Given the description of an element on the screen output the (x, y) to click on. 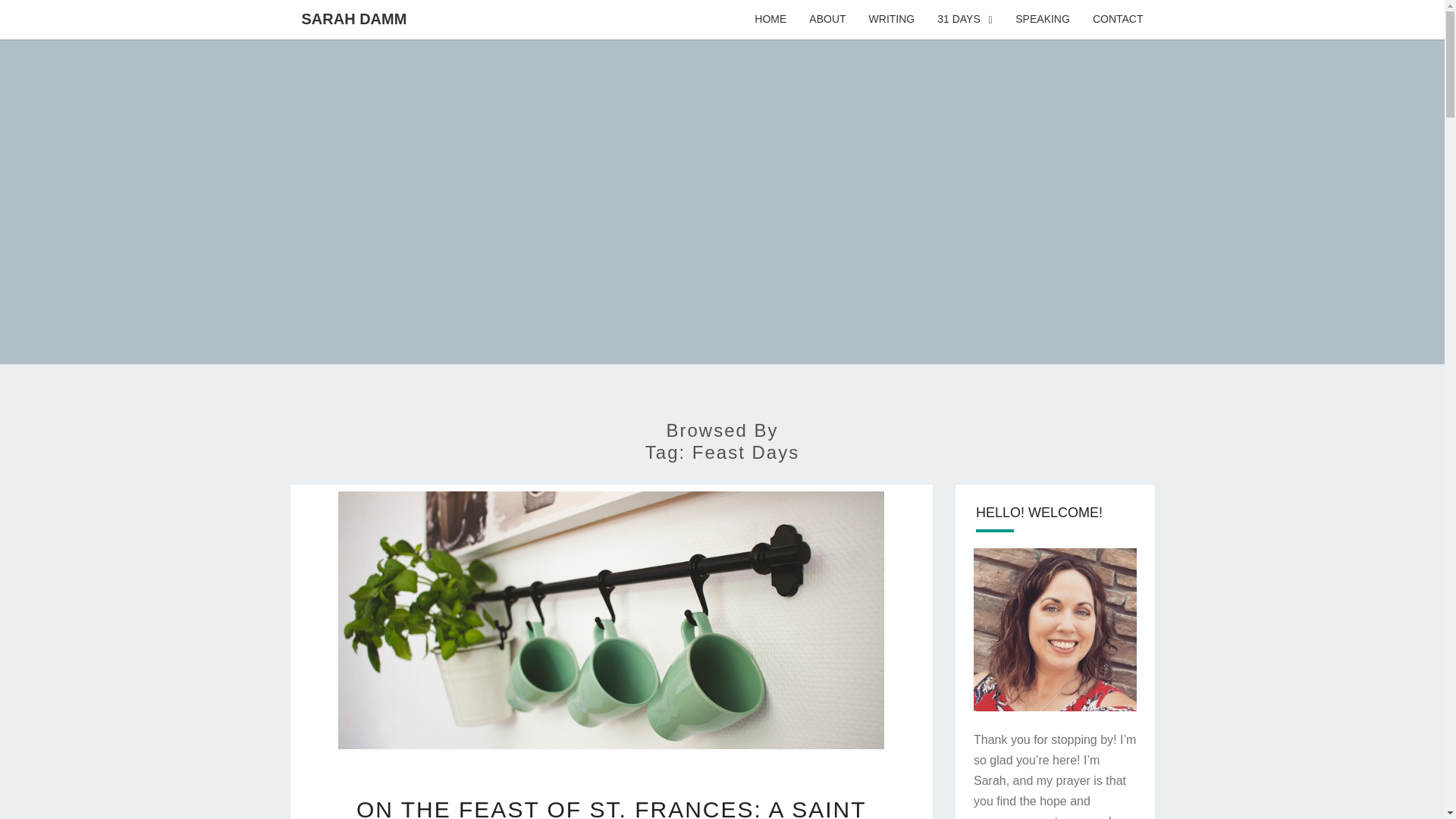
SPEAKING (1042, 19)
ON THE FEAST OF ST. FRANCES: A SAINT WHO STRUGGLED, TOO (611, 807)
ABOUT (827, 19)
31 DAYS (965, 19)
SARAH DAMM (353, 18)
CONTACT (1117, 19)
HOME (769, 19)
WRITING (891, 19)
